Given the description of an element on the screen output the (x, y) to click on. 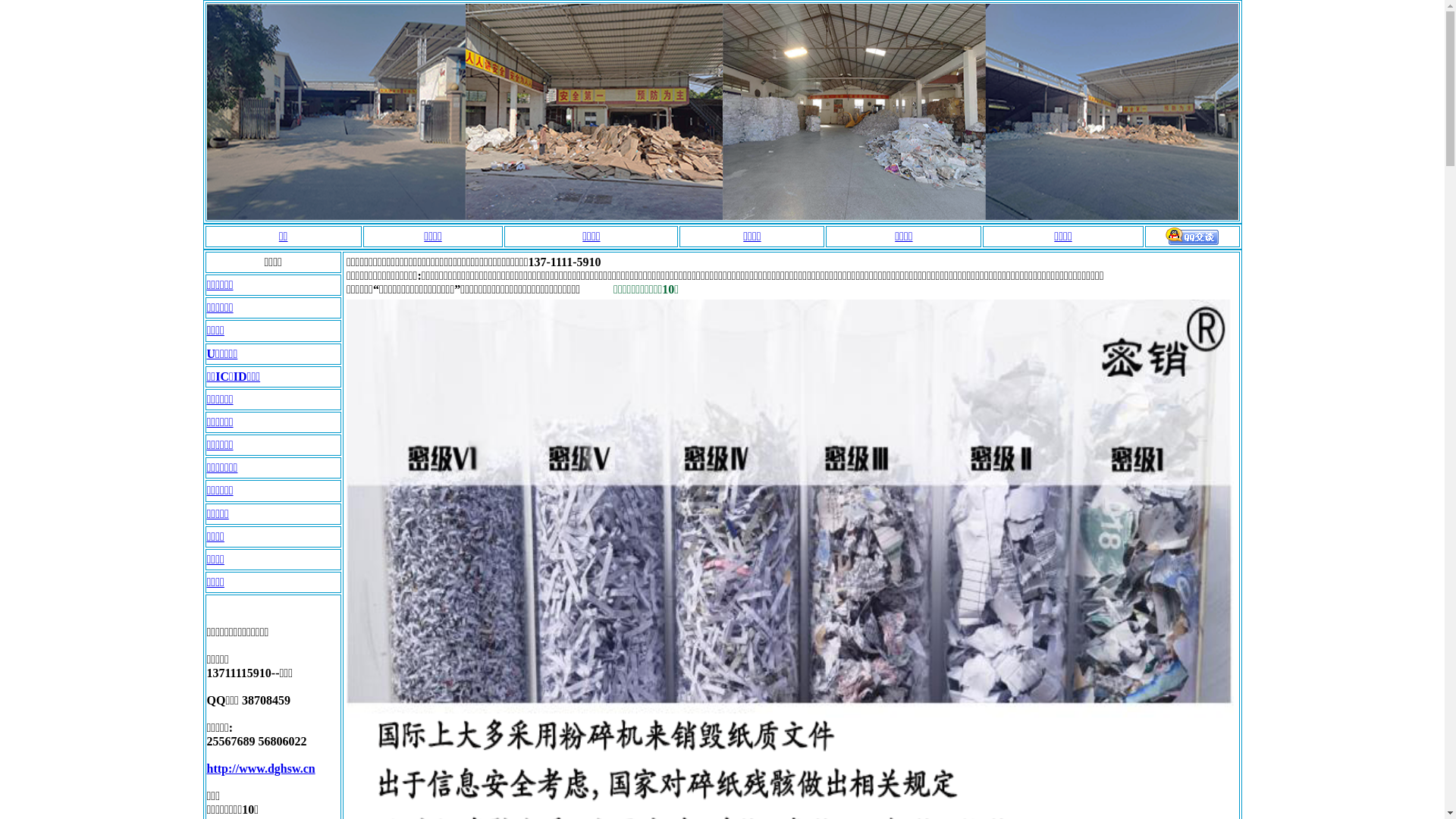
http://www.dghsw.cn Element type: text (260, 768)
